Given the description of an element on the screen output the (x, y) to click on. 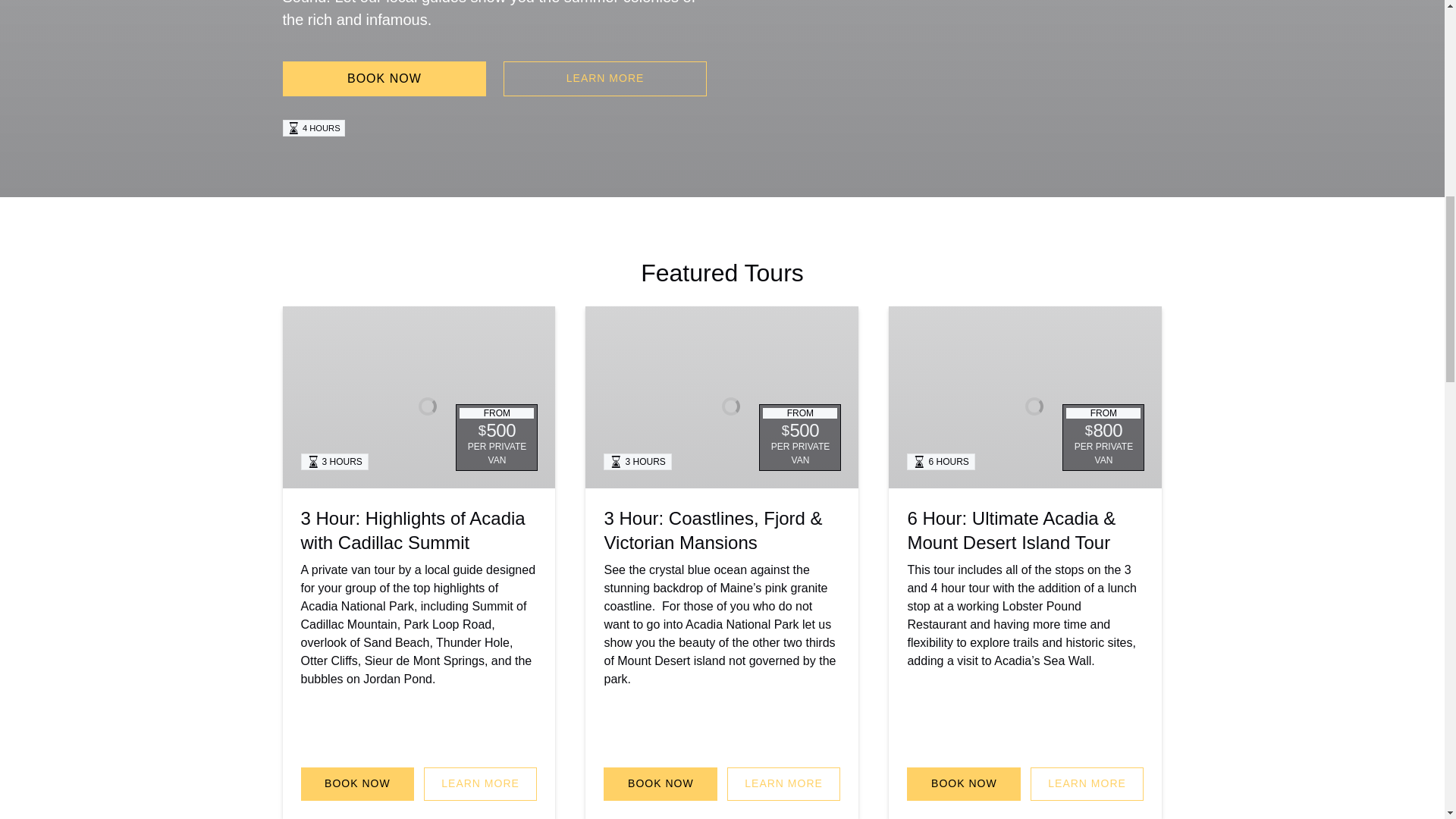
LEARN MORE (605, 78)
activity link (1024, 397)
3 Hour: Highlights of Acadia with Cadillac Summit (411, 529)
activity link (722, 397)
FareHarbor (1342, 64)
LEARN MORE (480, 783)
BOOK NOW (384, 78)
BOOK NOW (356, 783)
activity link (418, 397)
